Given the description of an element on the screen output the (x, y) to click on. 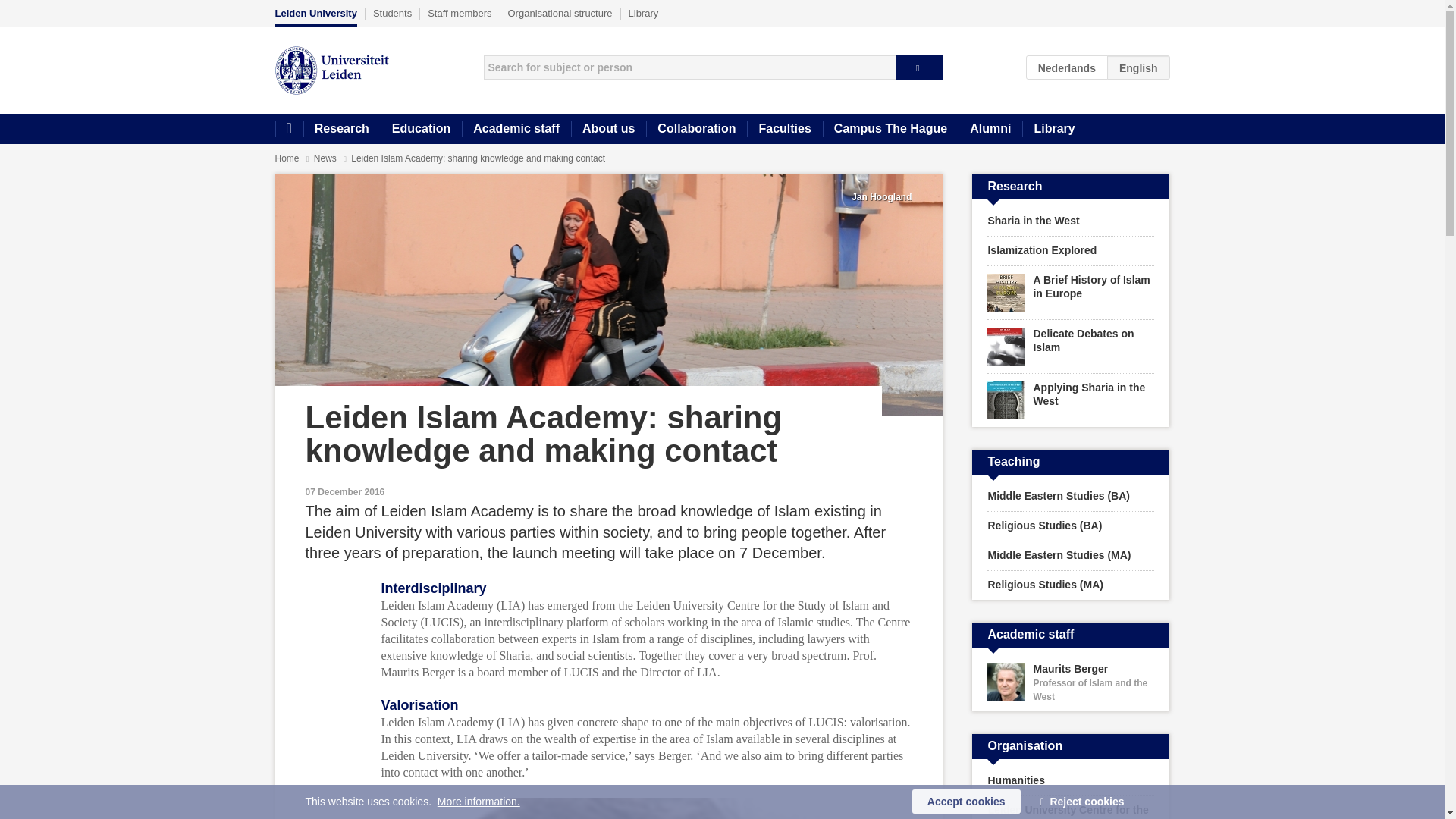
Faculties (784, 128)
Library (1054, 128)
Students (392, 13)
Alumni (990, 128)
Library (643, 13)
Collaboration (696, 128)
Home (288, 128)
NL (1067, 67)
About us (608, 128)
Research (341, 128)
Leiden University (315, 17)
Organisational structure (560, 13)
News (326, 158)
Home (286, 158)
Jan Hoogland (881, 196)
